Given the description of an element on the screen output the (x, y) to click on. 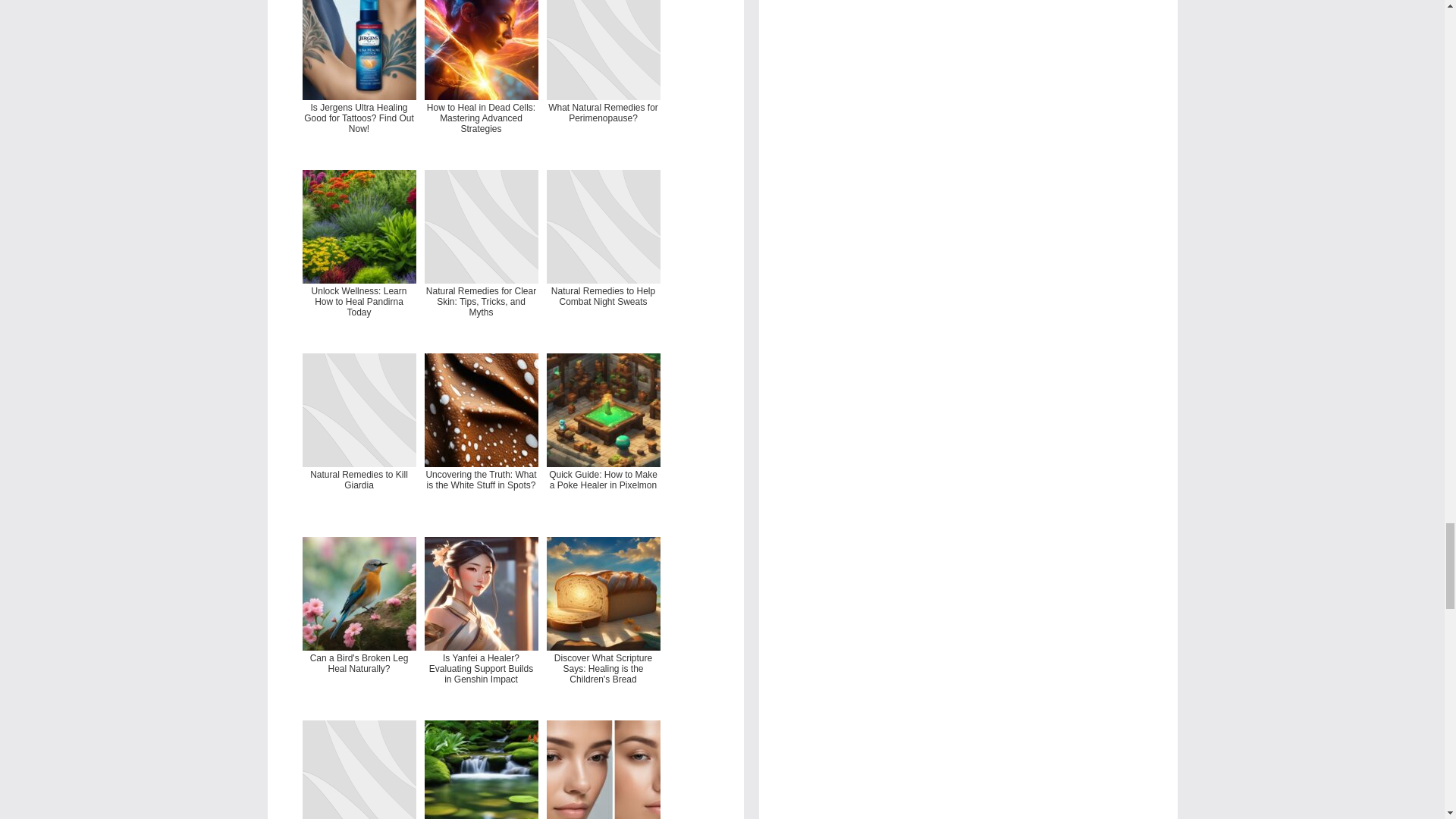
Is Healing Springs Water Safe to Drink? Your Health Guide. (481, 767)
